Given the description of an element on the screen output the (x, y) to click on. 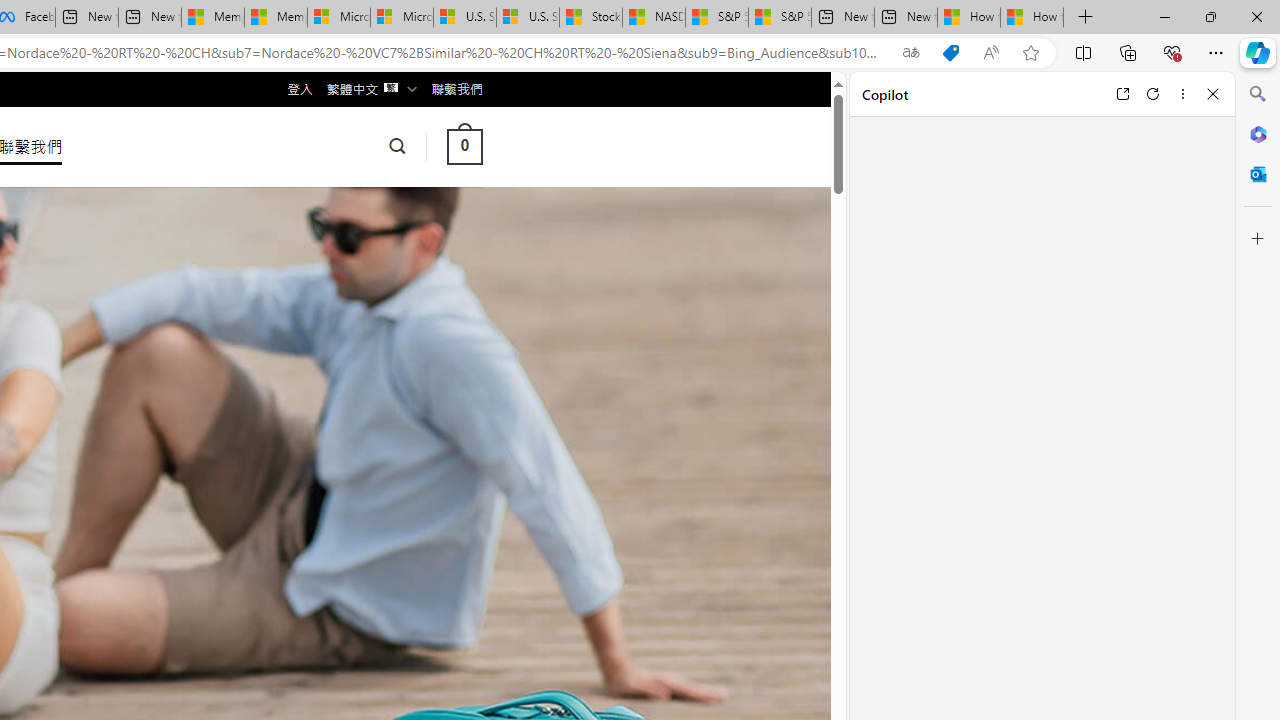
This site has coupons! Shopping in Microsoft Edge (950, 53)
  0   (464, 146)
Customize (1258, 239)
